Given the description of an element on the screen output the (x, y) to click on. 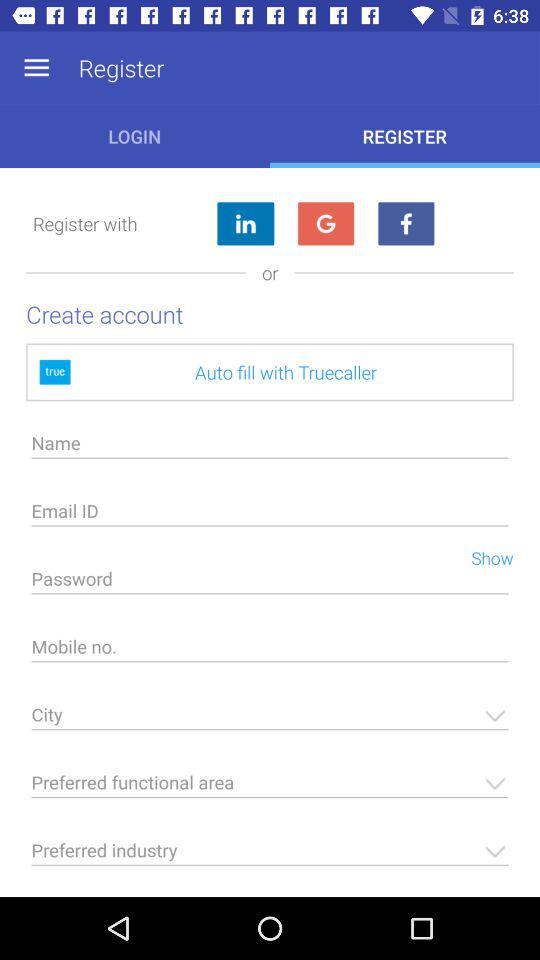
tap the icon to the left of the register app (36, 68)
